Given the description of an element on the screen output the (x, y) to click on. 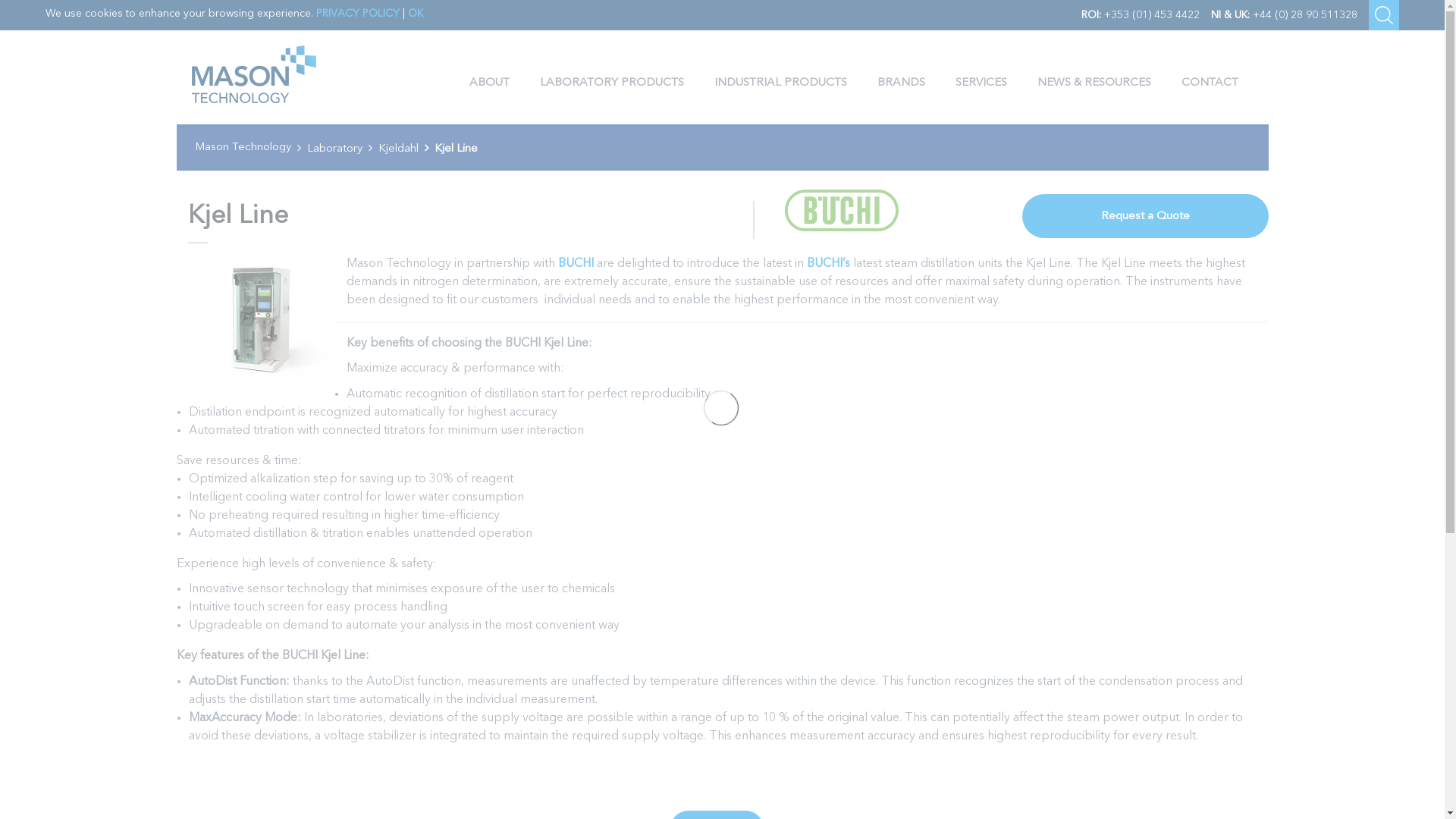
Buchi (841, 209)
PRIVACY POLICY (356, 13)
OK (415, 13)
Kjel Line (255, 317)
Search (1383, 15)
Buchi (825, 219)
